Given the description of an element on the screen output the (x, y) to click on. 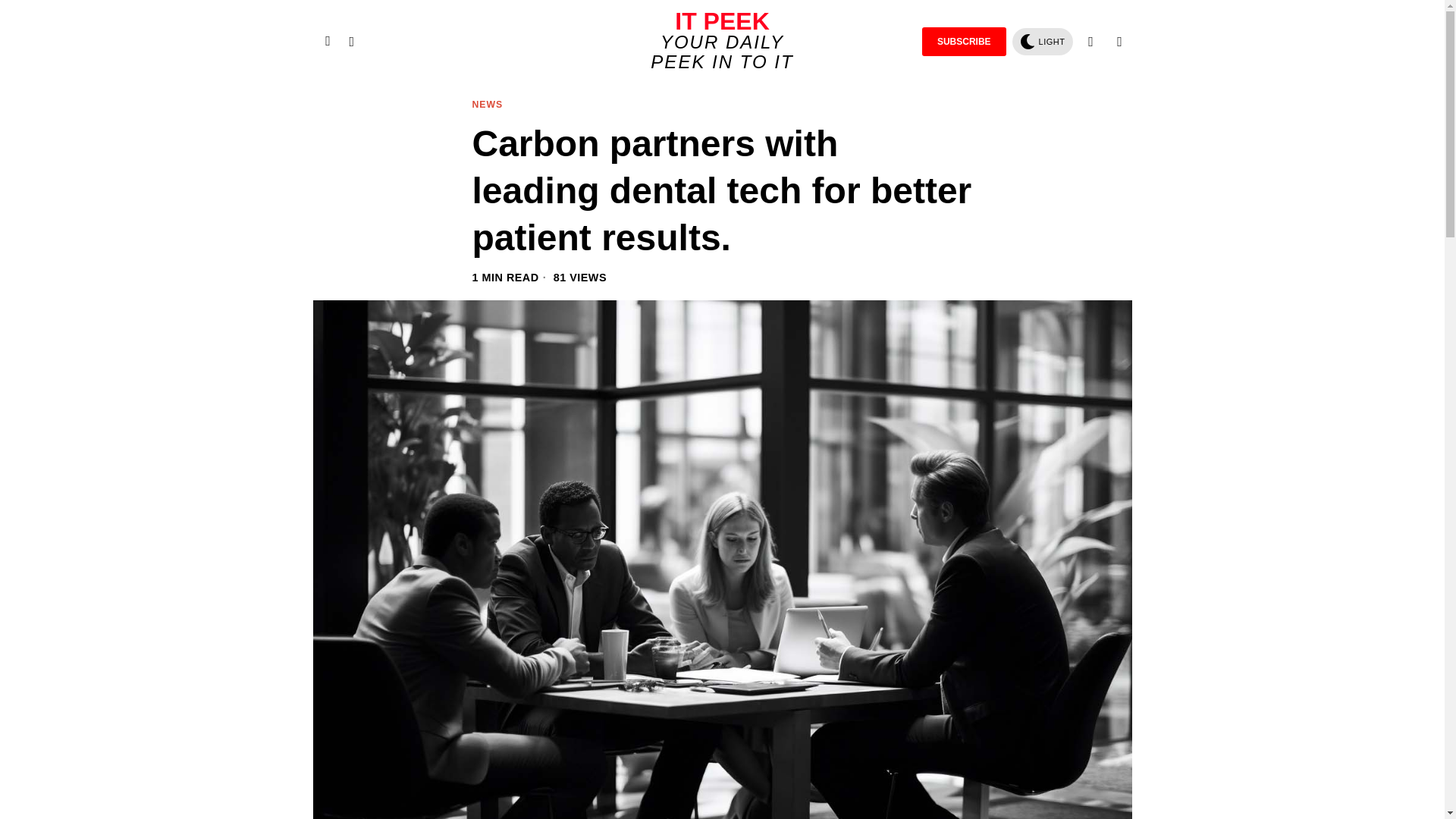
SUBSCRIBE (963, 41)
IT PEEK (721, 21)
NEWS (486, 105)
